Given the description of an element on the screen output the (x, y) to click on. 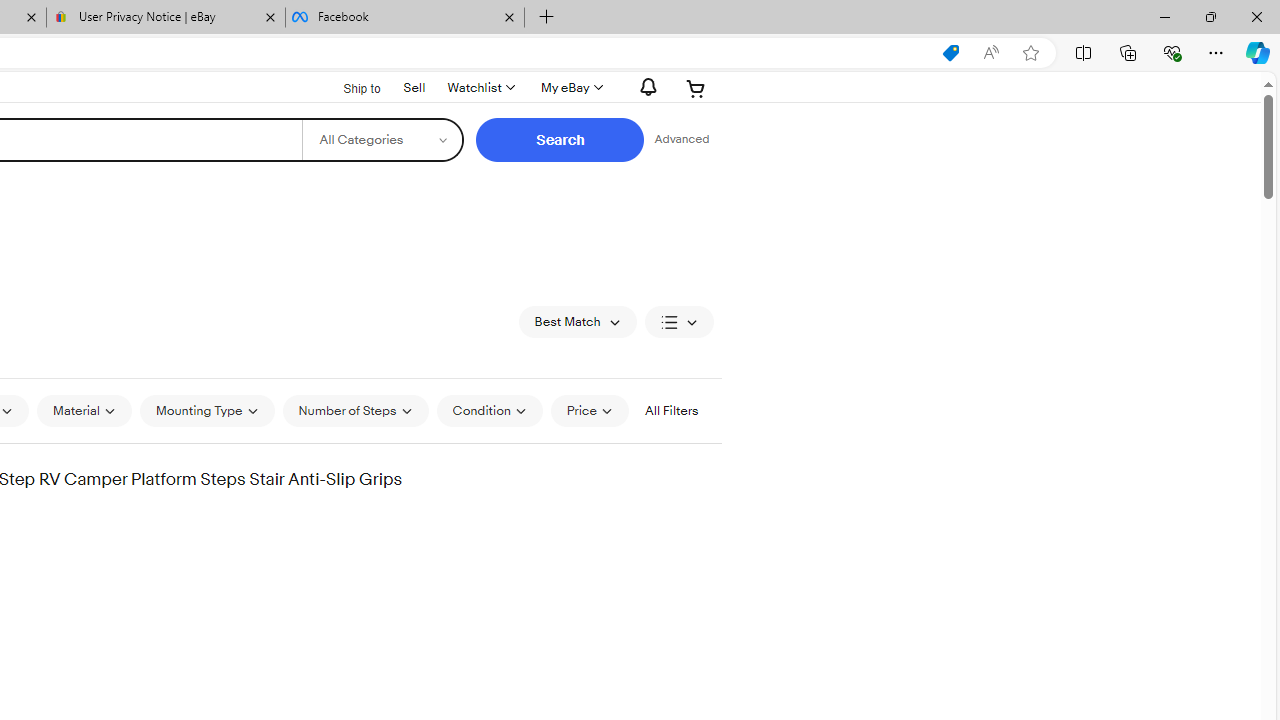
Material (84, 410)
Mounting Type (207, 410)
Ship to (349, 86)
Expand Cart (696, 88)
WatchlistExpand Watch List (479, 88)
Price (589, 410)
Condition (489, 410)
